Given the description of an element on the screen output the (x, y) to click on. 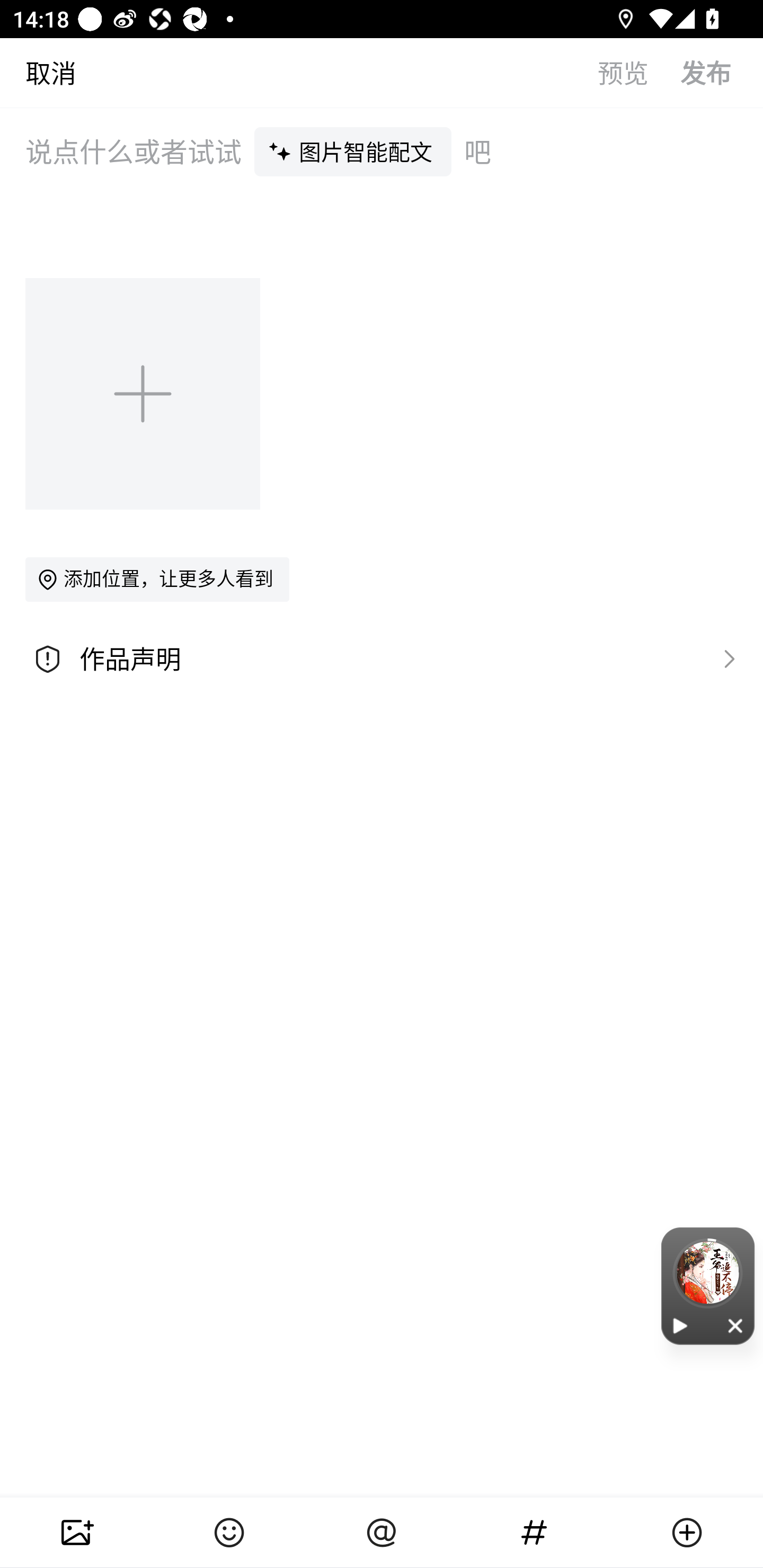
取消 (38, 71)
预览 (638, 71)
发布 (721, 71)
图片智能配文 (352, 151)
添加图片 (144, 393)
添加位置，让更多人看到 (157, 579)
作品声明 高级设置 作品声明 高级设置 (381, 658)
高级设置 (724, 658)
播放 关闭 (708, 1286)
播放 (680, 1325)
关闭 (736, 1325)
相册 (76, 1532)
表情 (228, 1532)
at (381, 1532)
话题 (533, 1532)
更多 (686, 1532)
